Given the description of an element on the screen output the (x, y) to click on. 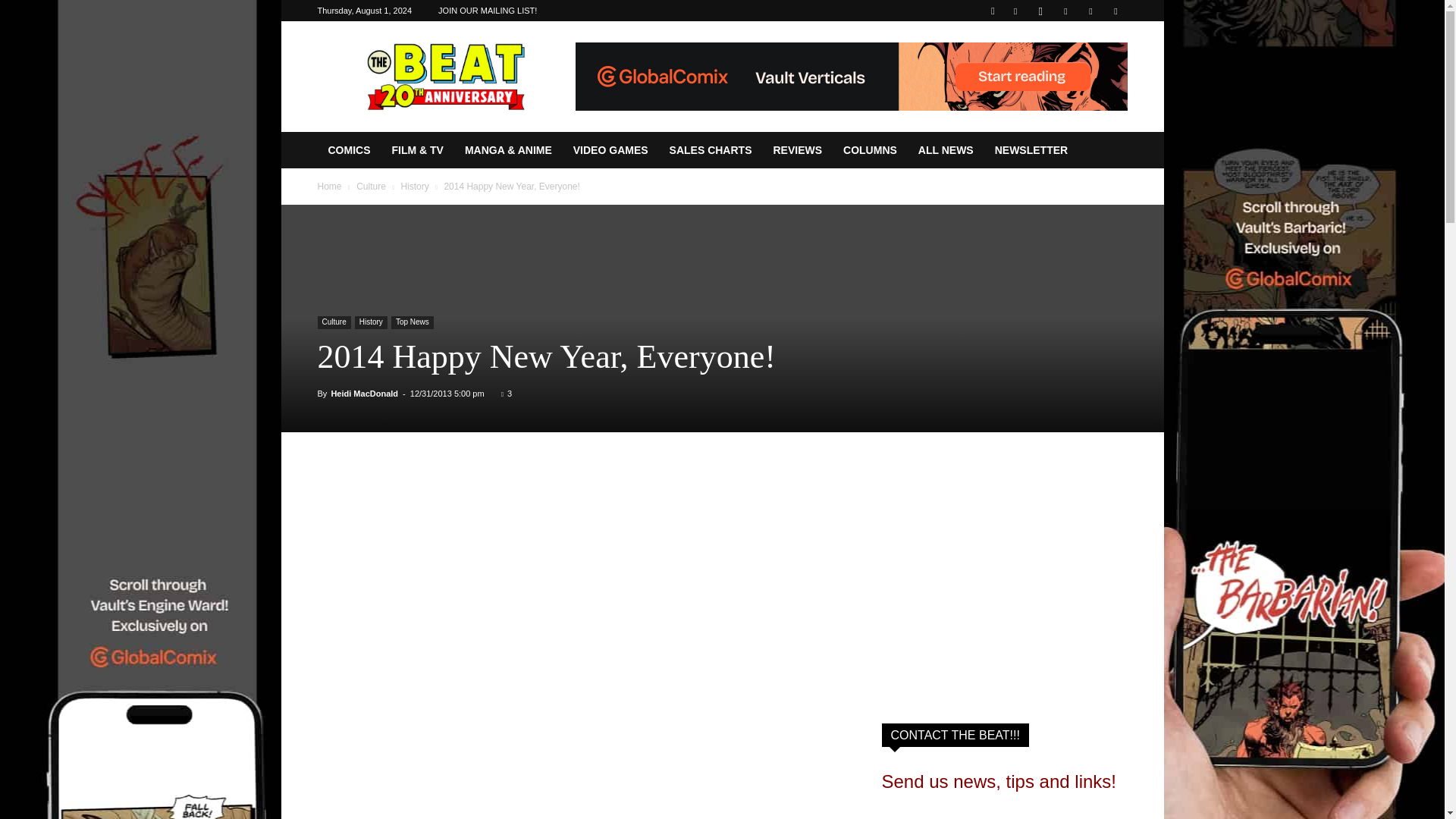
Twitter (1090, 10)
RSS (1065, 10)
NEWSLETTER (1031, 149)
REVIEWS (796, 149)
Search (1085, 64)
COLUMNS (869, 149)
SALES CHARTS (710, 149)
COMICS (348, 149)
VIDEO GAMES (610, 149)
ALL NEWS (945, 149)
View all posts in Culture (370, 185)
Facebook (1015, 10)
Youtube (1114, 10)
View all posts in History (414, 185)
Instagram (1040, 10)
